Given the description of an element on the screen output the (x, y) to click on. 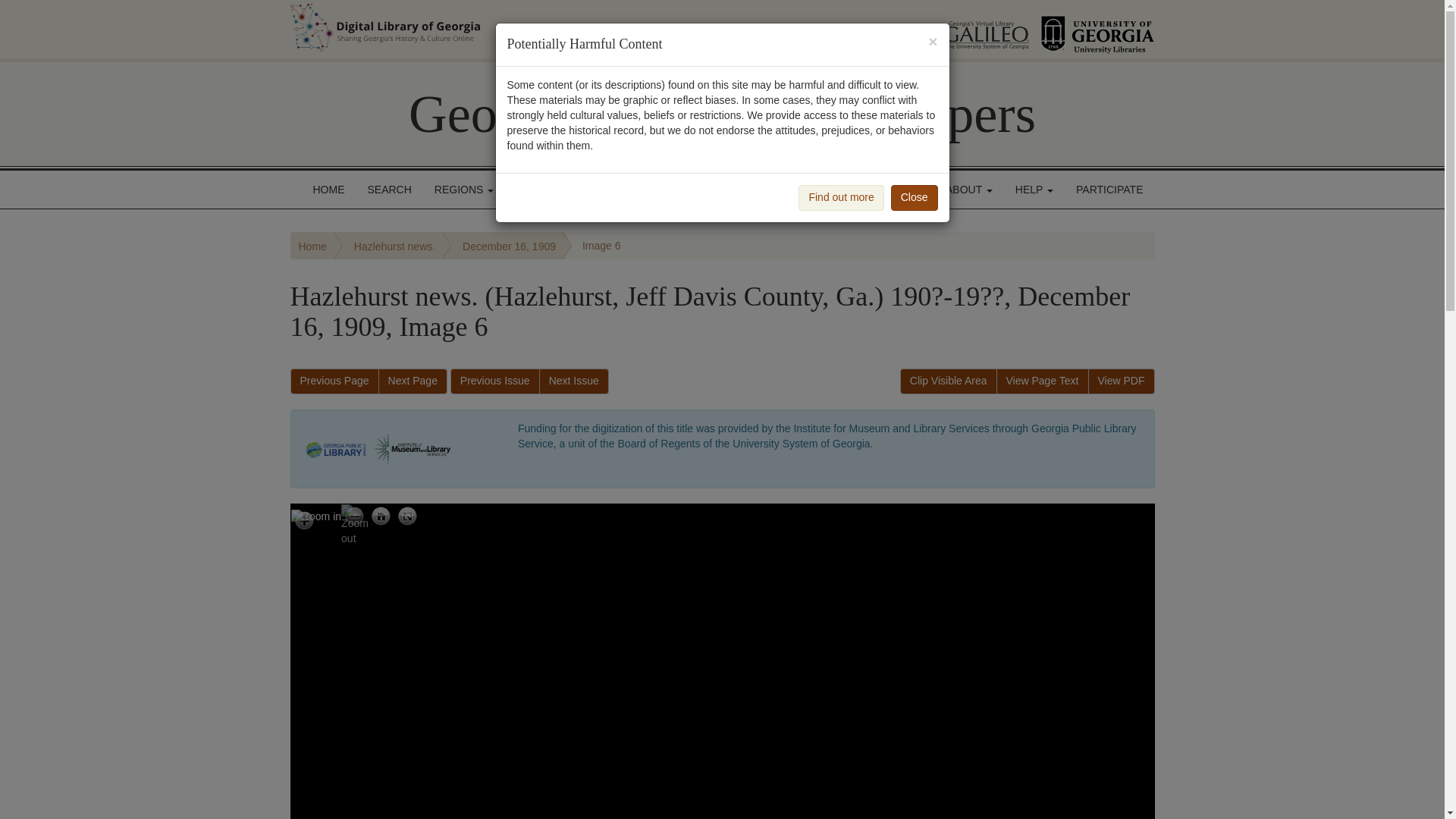
Go home (381, 516)
GHNP Homepage (722, 114)
REGIONS (464, 189)
UGA Libraries Homepage Link (1097, 29)
PARTICIPATE (1109, 189)
Home (311, 245)
Zoom out (354, 516)
Toggle full page (407, 516)
SEARCH (389, 189)
GALILEO Homepage Link (968, 29)
DLG Homepage Link (536, 27)
Georgia Historic Newspapers (722, 114)
Zoom in (316, 516)
HELP (1034, 189)
NEWS (901, 189)
